Given the description of an element on the screen output the (x, y) to click on. 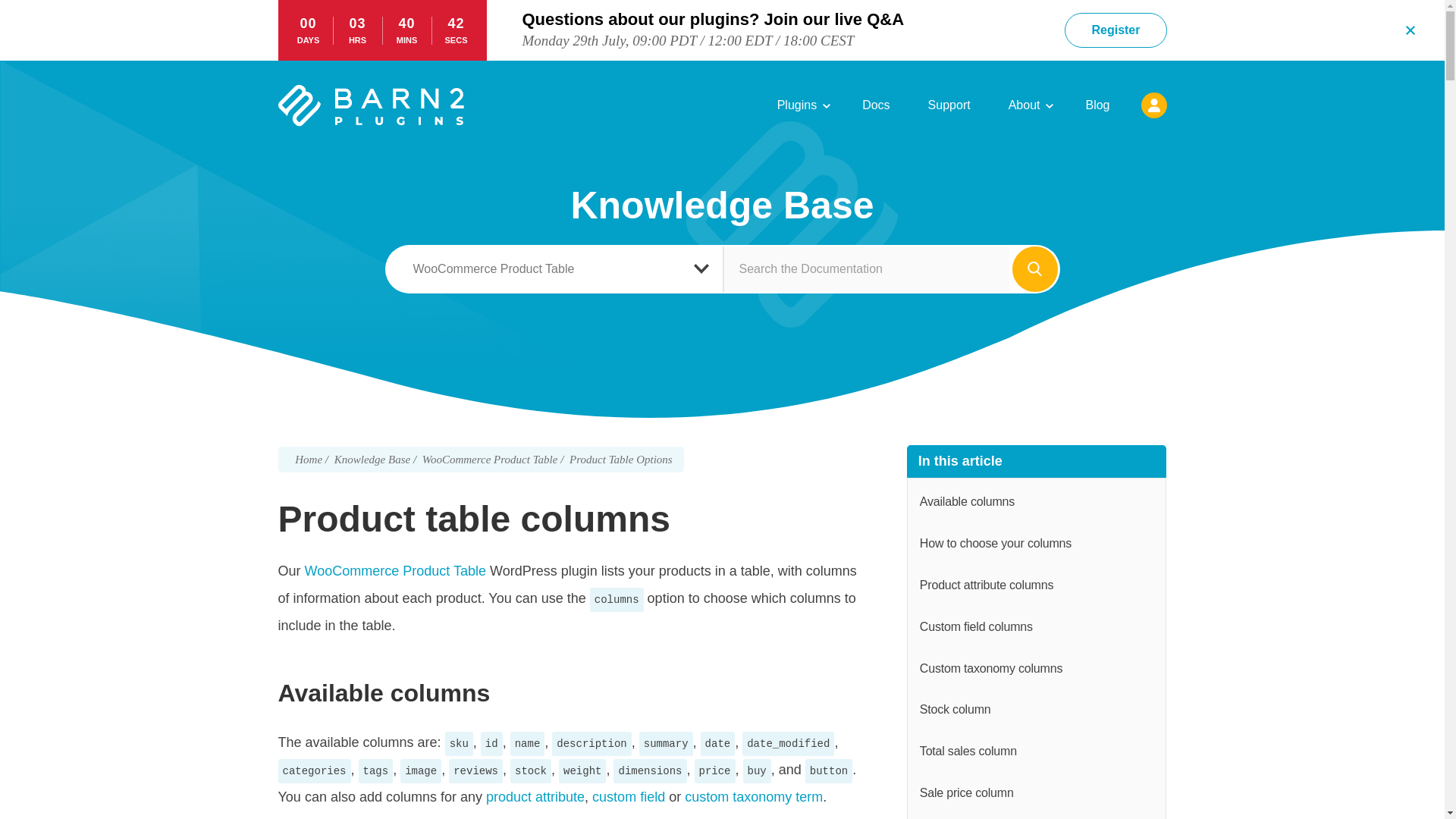
Register (1115, 30)
Custom field columns (1037, 627)
Available columns (1037, 502)
Support (948, 105)
Knowledge Base (373, 459)
Docs (875, 105)
Stock column (1037, 710)
Product Table Options (620, 459)
product attribute (535, 796)
custom field (628, 796)
Custom taxonomy columns (1037, 669)
Product attribute columns (1037, 585)
Total sales column (1037, 751)
How to choose your columns (1037, 544)
About (1028, 105)
